Given the description of an element on the screen output the (x, y) to click on. 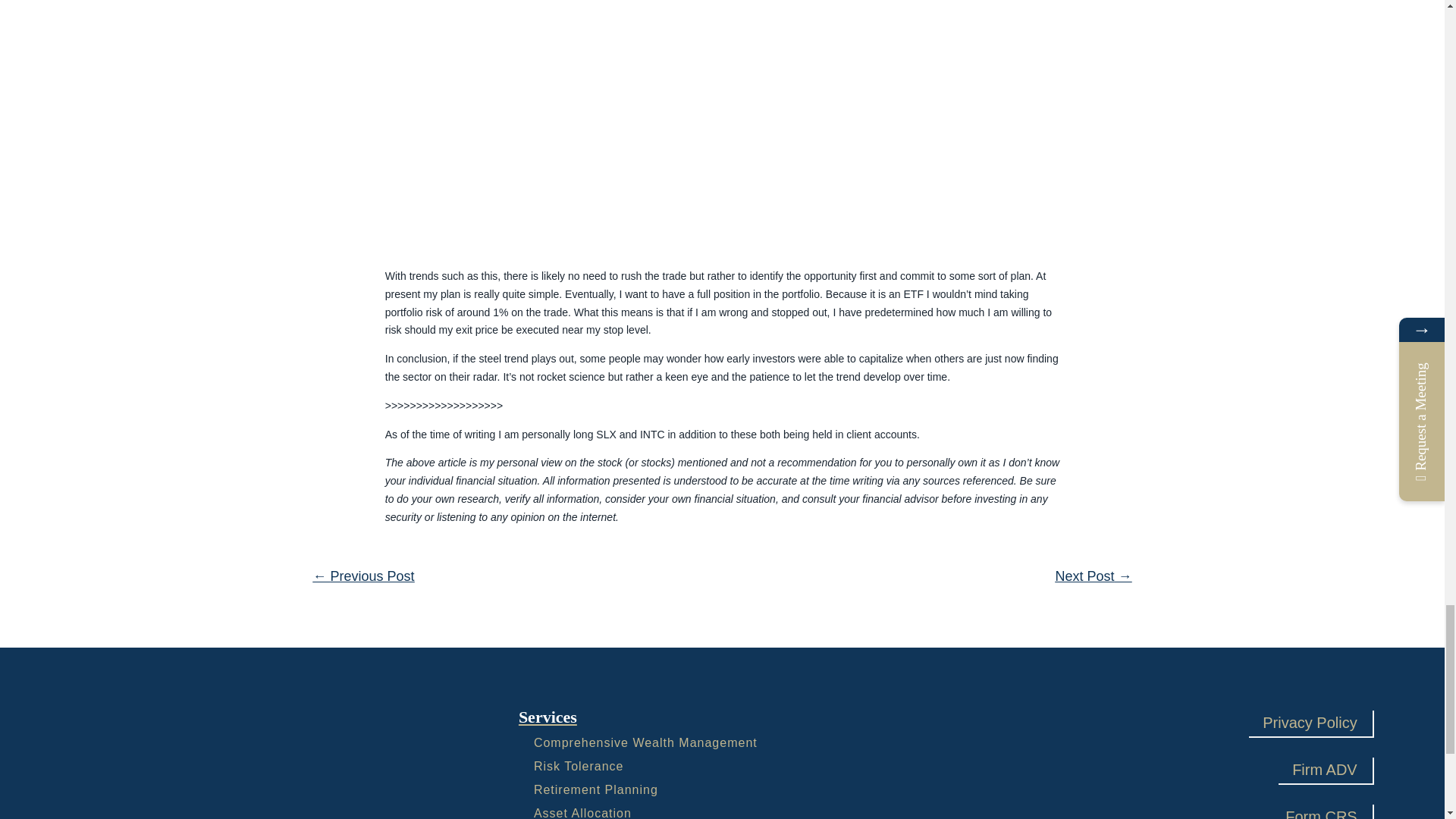
Risk Tolerance (579, 766)
Form CRS (1320, 811)
Firm ADV (1324, 768)
Retirement Planning (596, 789)
Comprehensive Wealth Management (645, 742)
Privacy Policy (1309, 722)
Asset Allocation (582, 812)
